Given the description of an element on the screen output the (x, y) to click on. 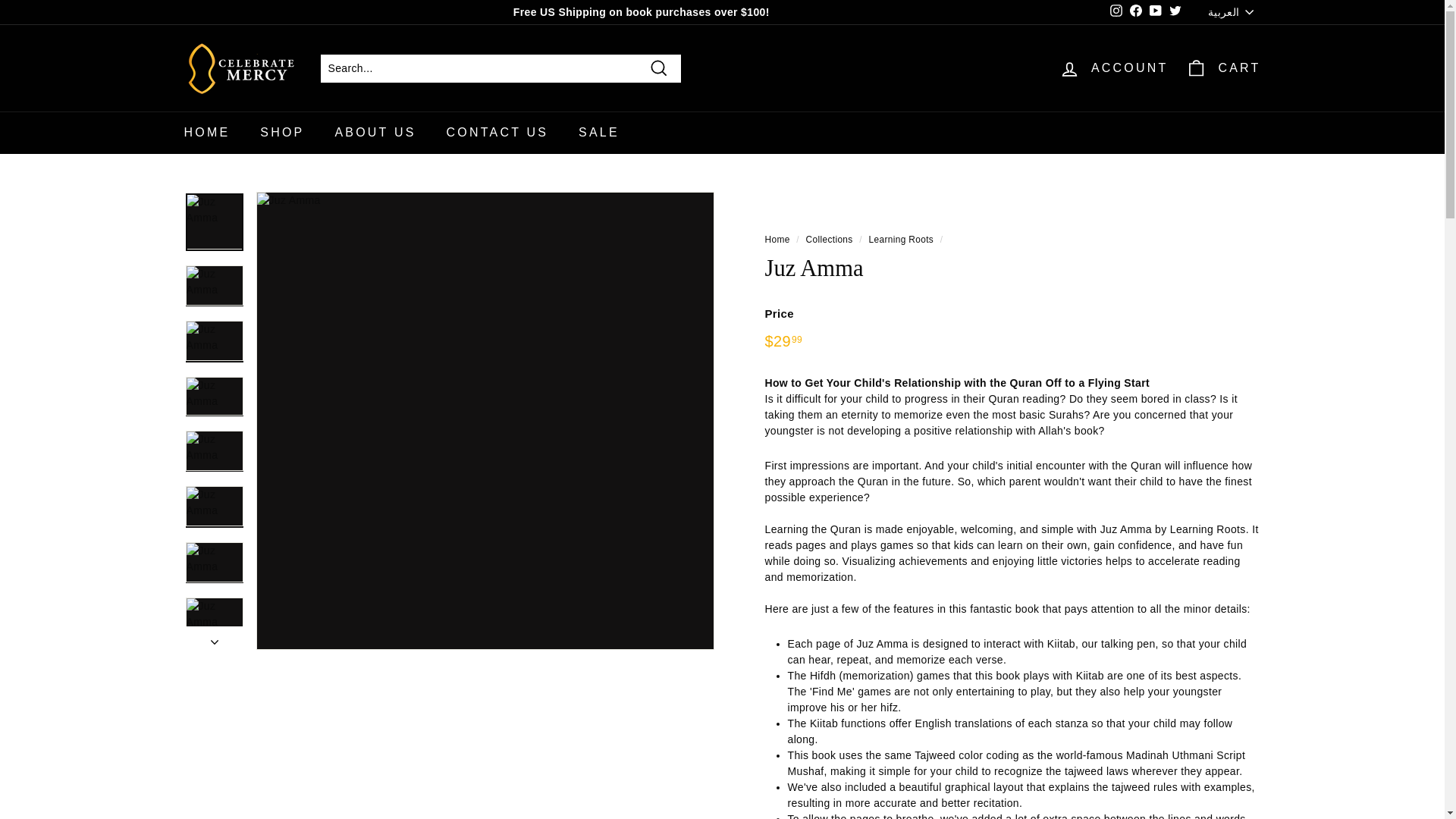
CONTACT US (497, 132)
CelebrateMercy BookStore on Twitter (1175, 12)
Take me back home!  (776, 239)
CelebrateMercy BookStore on Facebook (1135, 12)
ABOUT US (374, 132)
Twitter (1175, 12)
CelebrateMercy BookStore on Instagram (1115, 12)
Instagram (1115, 12)
YouTube (1155, 12)
CelebrateMercy BookStore on YouTube (1155, 12)
Facebook (1135, 12)
ACCOUNT (1113, 67)
SHOP (281, 132)
HOME (206, 132)
